Given the description of an element on the screen output the (x, y) to click on. 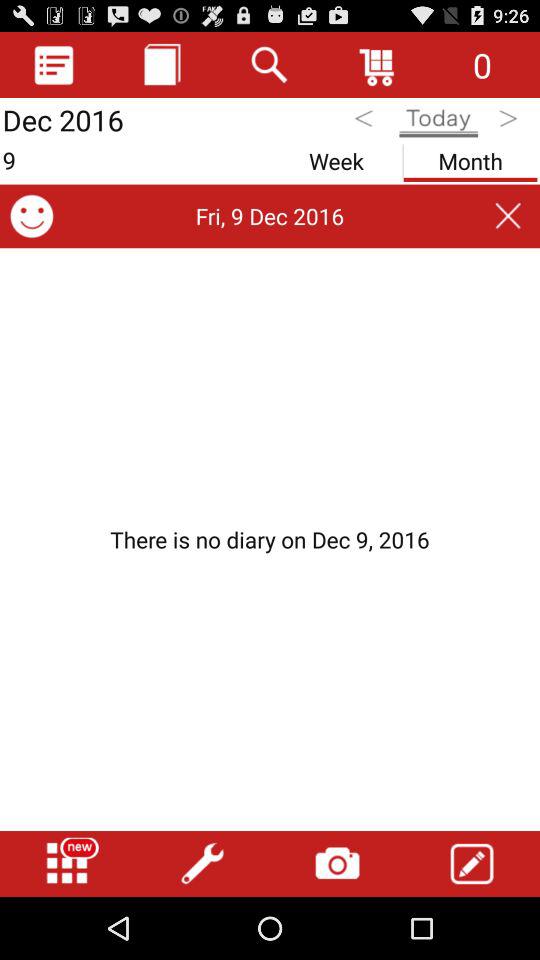
tools/ settings tab (202, 863)
